Given the description of an element on the screen output the (x, y) to click on. 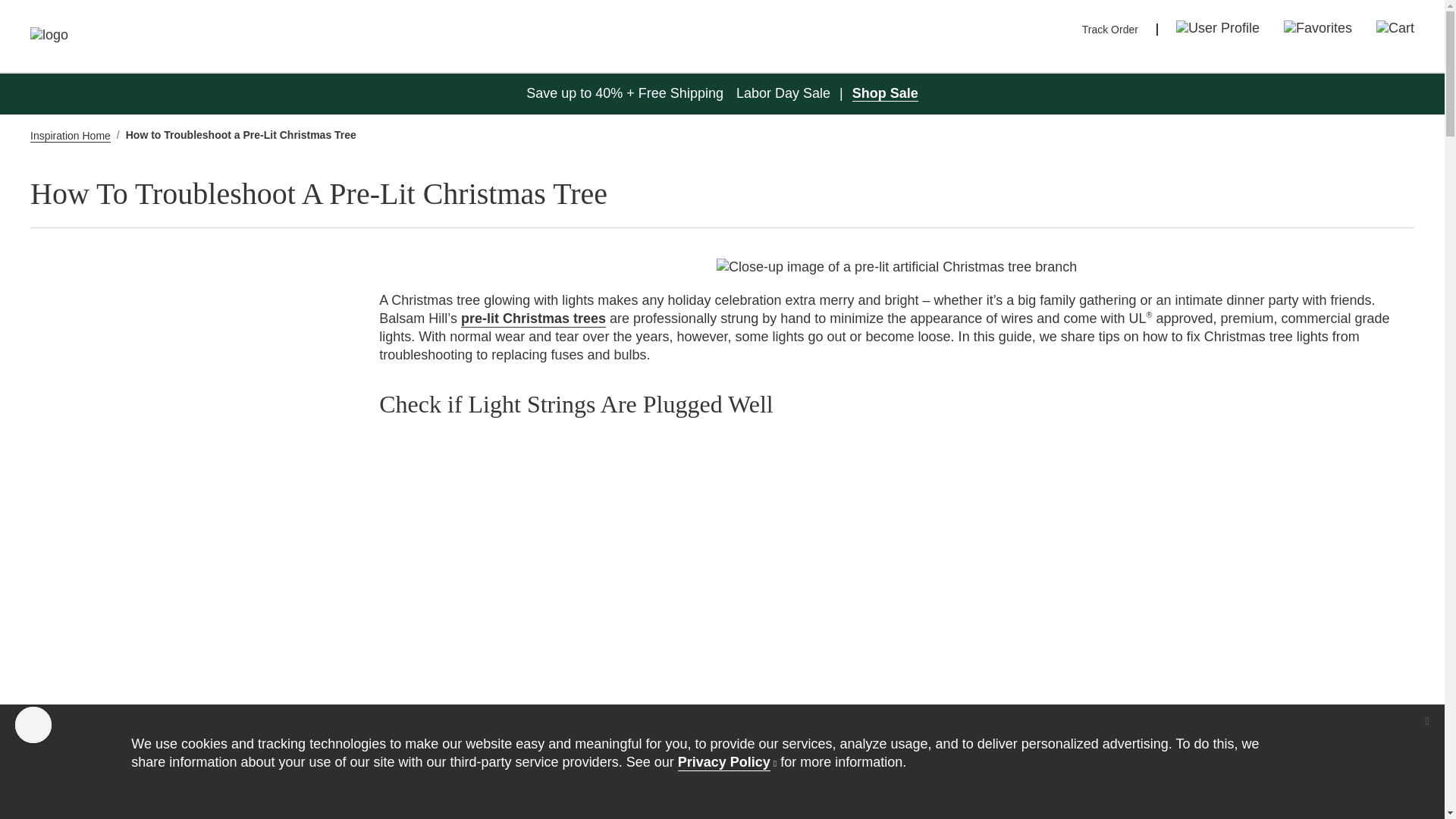
Shop Sale (884, 93)
pre-lit Christmas trees (533, 319)
Track Order (1109, 29)
Enable accessibility (32, 724)
Privacy Policy (727, 761)
Inspiration Home (70, 135)
